Given the description of an element on the screen output the (x, y) to click on. 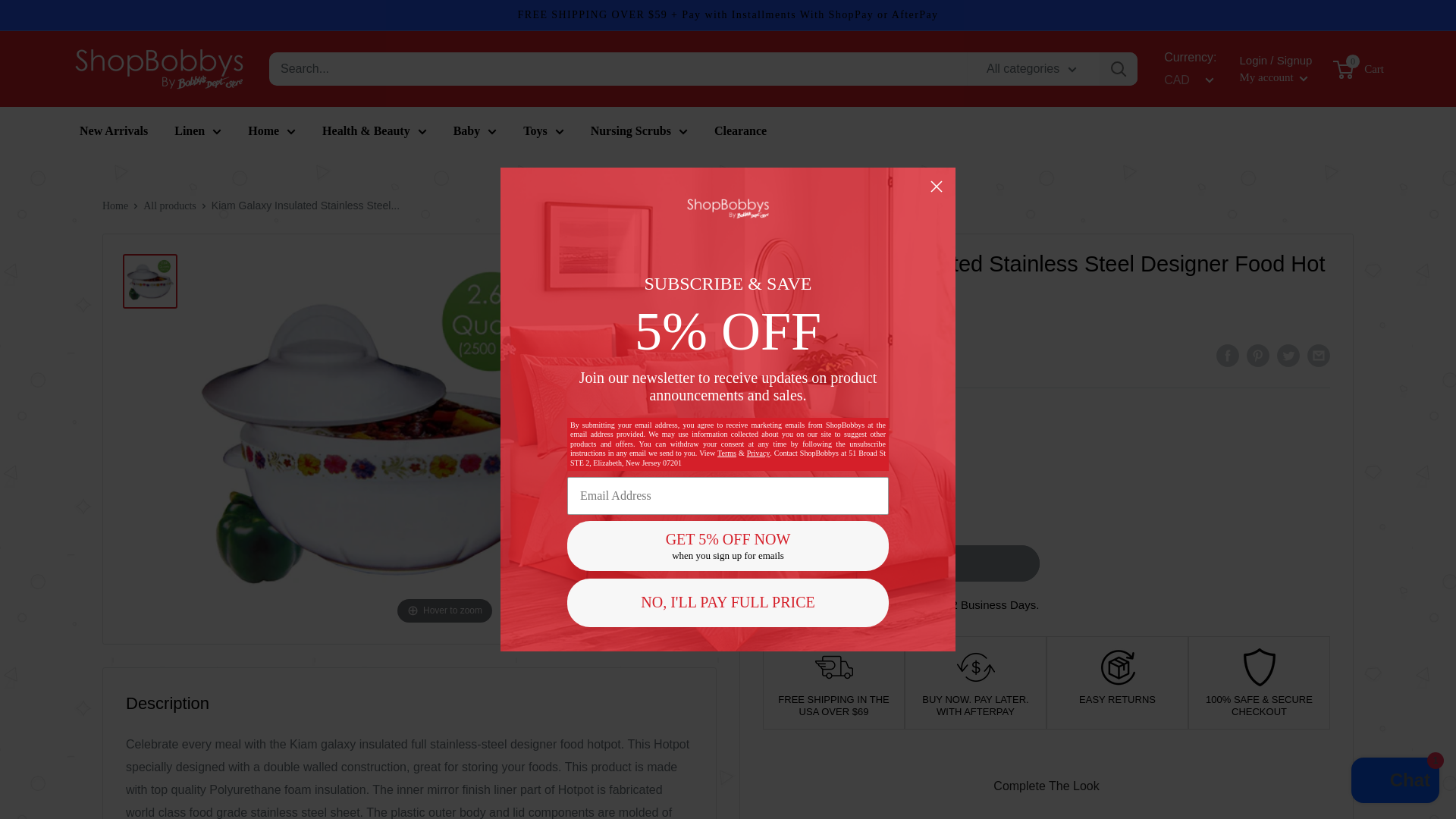
Currency (1186, 79)
Shopify online store chat (1395, 781)
